Given the description of an element on the screen output the (x, y) to click on. 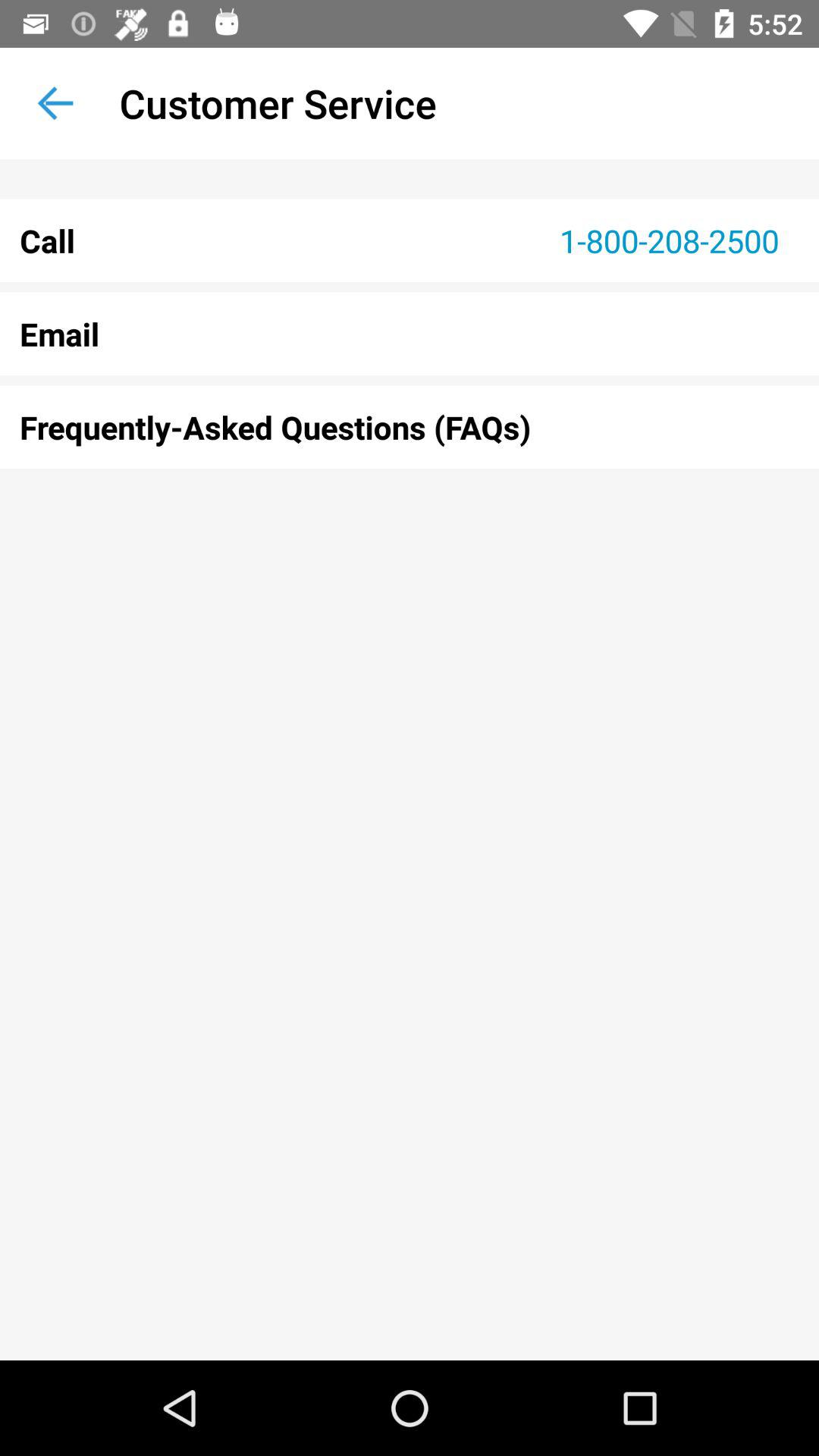
select item next to customer service (55, 103)
